Given the description of an element on the screen output the (x, y) to click on. 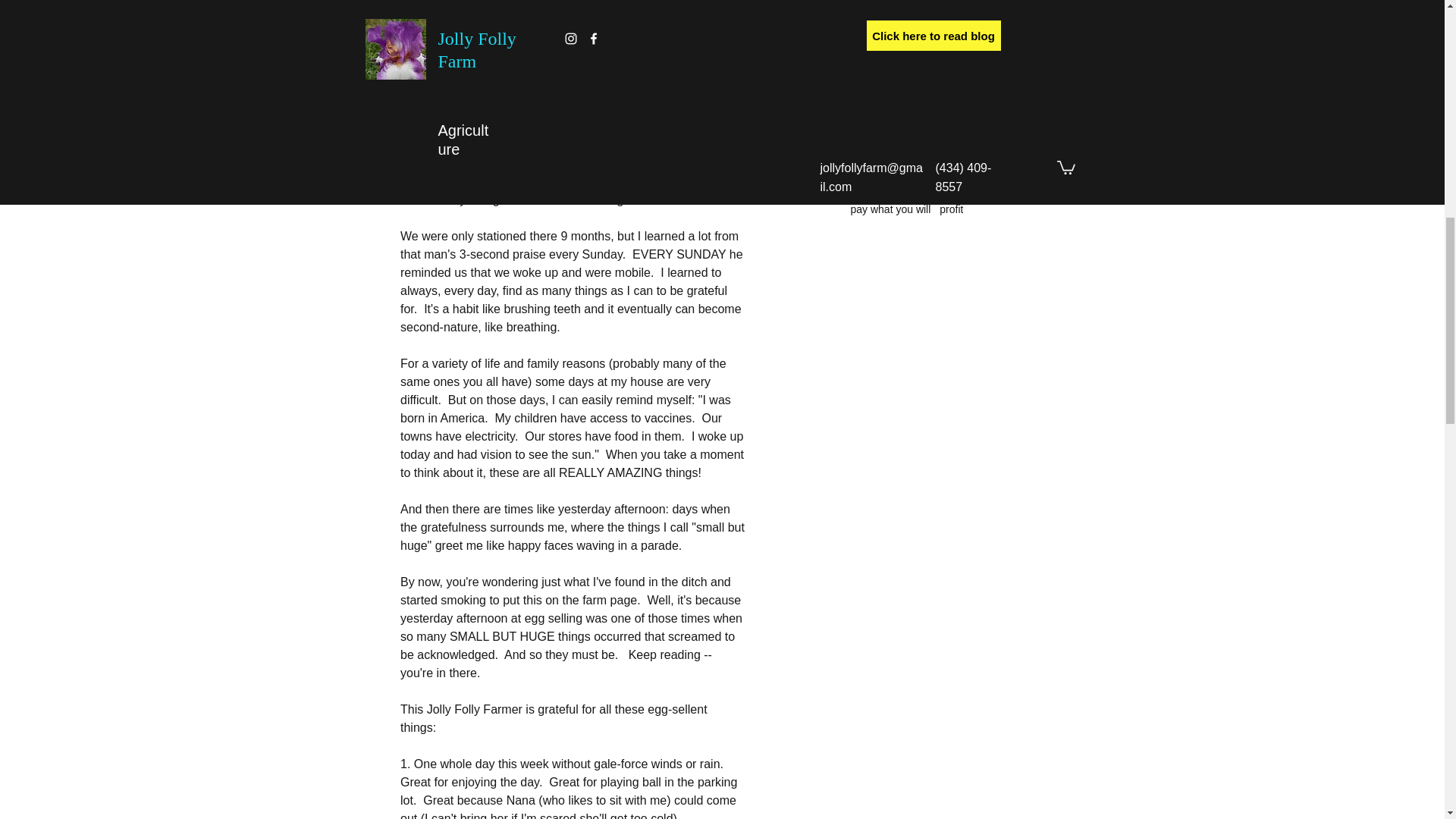
Jolly Folly Farm (973, 102)
humane farming (888, 102)
Hope's Legacy (885, 81)
adoption (870, 18)
chickens (1038, 18)
horse racing (959, 81)
Louisa County Animal Shelter (920, 123)
money (866, 187)
Louisa County Humane Society (924, 145)
Louisa County seizure (903, 166)
